Given the description of an element on the screen output the (x, y) to click on. 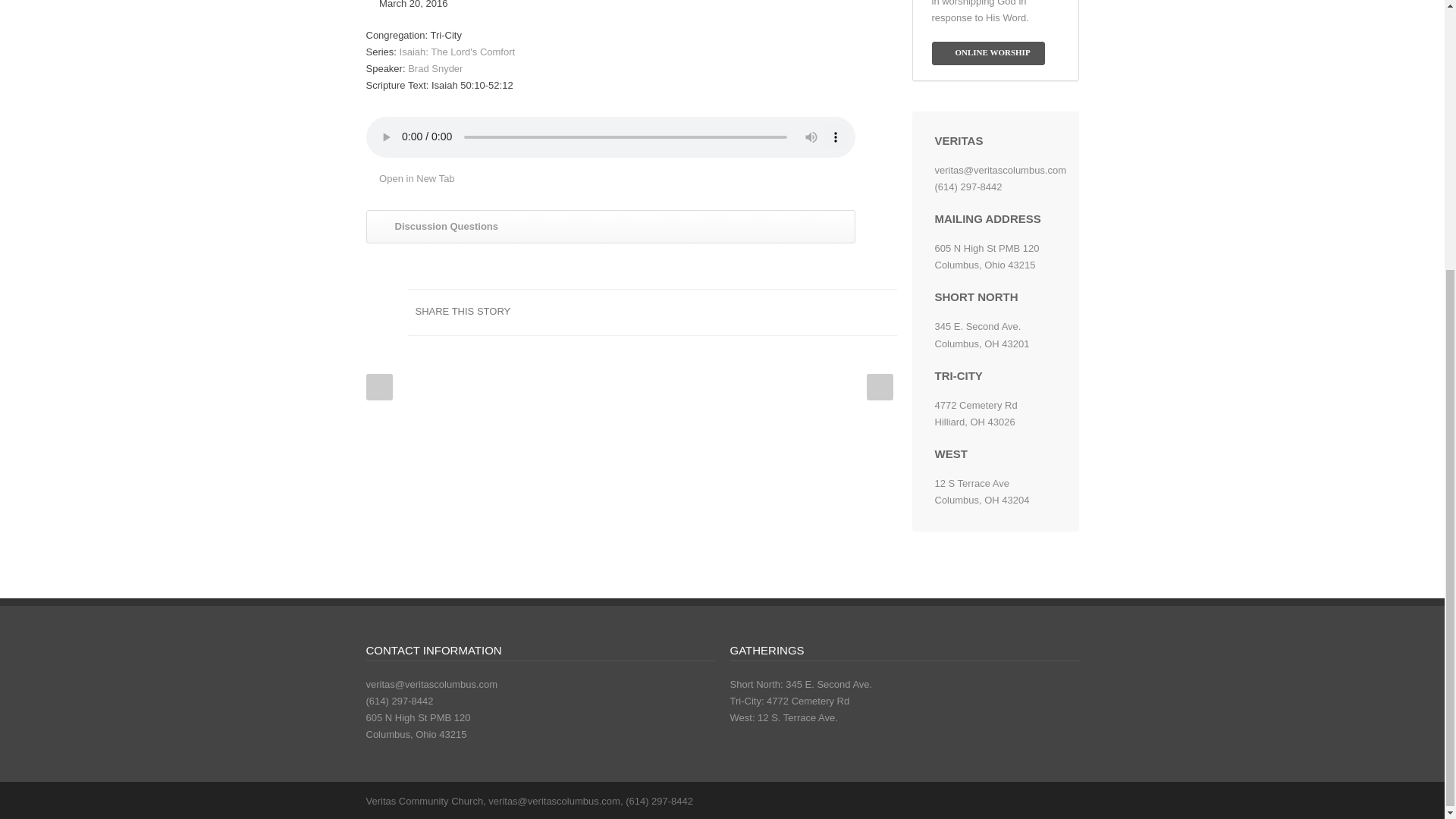
LinkedIn (729, 312)
Delicious (820, 312)
Twitter (699, 312)
Facebook (668, 312)
Instagram (1032, 800)
Facebook (1002, 800)
Twitter (971, 800)
Vimeo (1063, 800)
E-Mail (881, 312)
Reddit (759, 312)
